Given the description of an element on the screen output the (x, y) to click on. 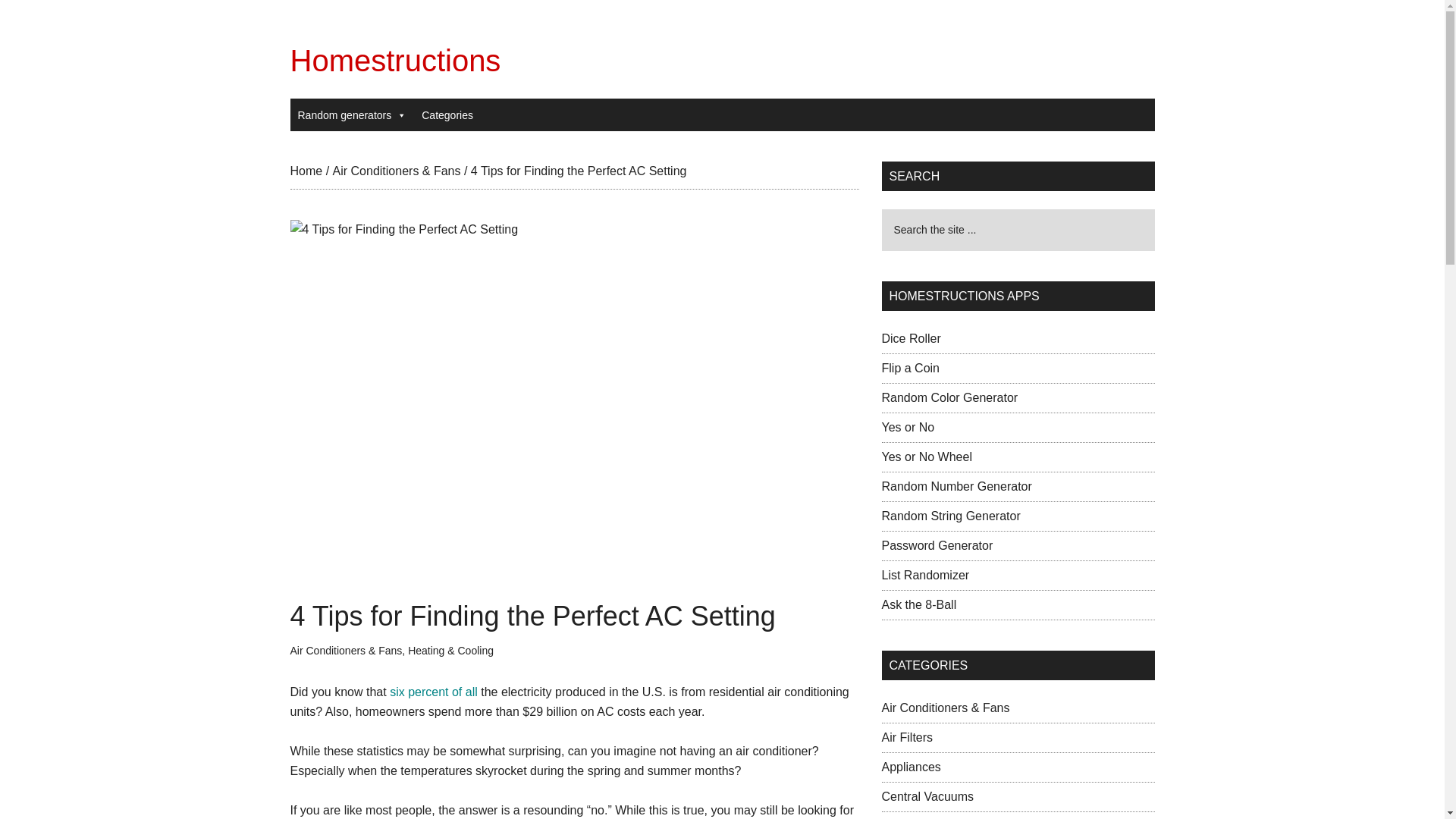
Homestructions (394, 60)
Home (305, 170)
Yes or No Wheel (925, 456)
Random generators (351, 114)
Random Color Generator (948, 397)
Categories (446, 114)
Yes or No (907, 427)
